Given the description of an element on the screen output the (x, y) to click on. 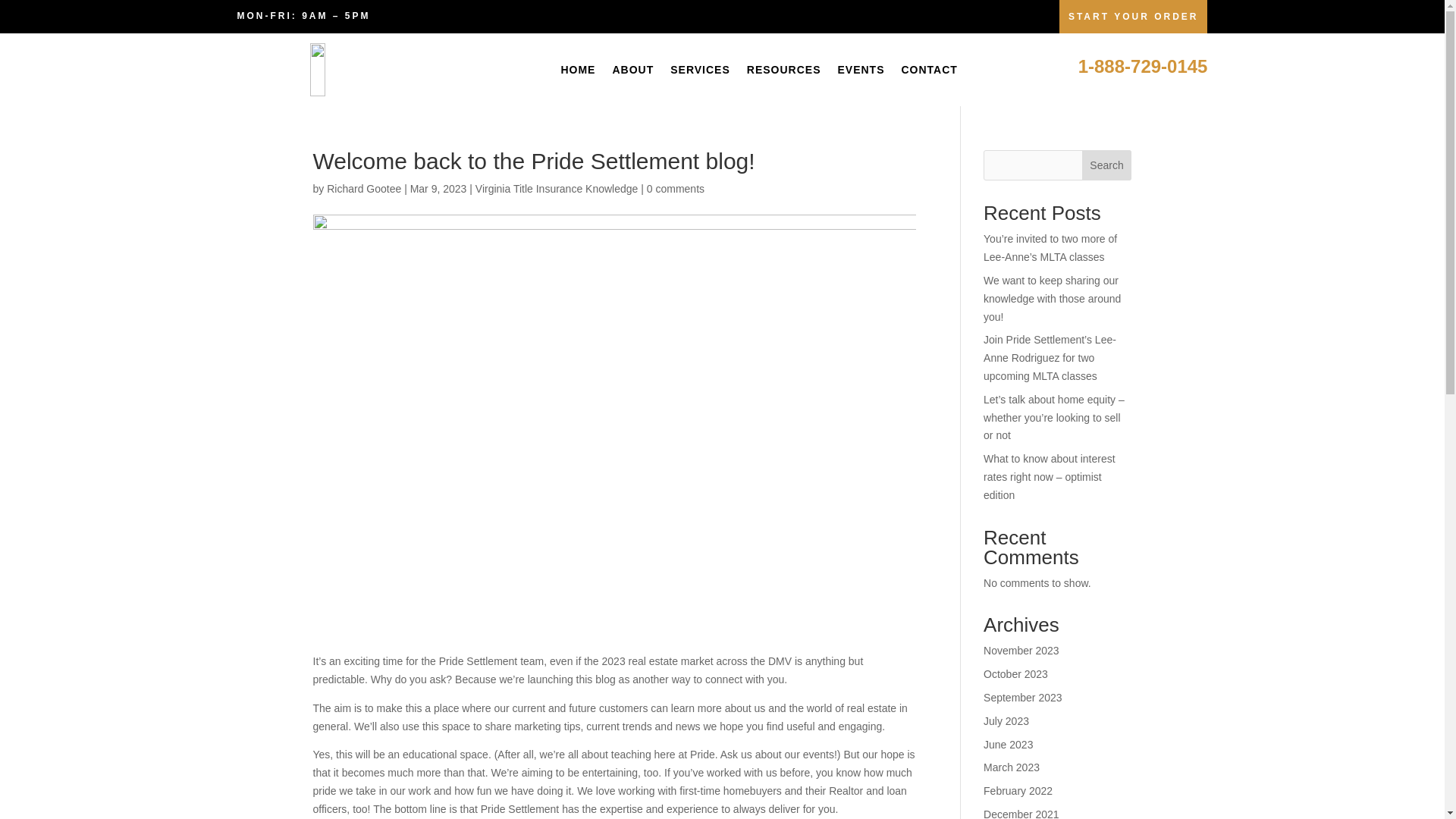
December 2021 (1021, 813)
RESOURCES (783, 69)
November 2023 (1021, 650)
July 2023 (1006, 720)
October 2023 (1016, 674)
March 2023 (1011, 767)
START YOUR ORDER (1133, 16)
Search (1106, 164)
0 comments (675, 188)
SERVICES (699, 69)
Richard Gootee (363, 188)
We want to keep sharing our knowledge with those around you! (1052, 298)
1-888-729-0145 (1143, 66)
February 2022 (1018, 790)
Posts by Richard Gootee (363, 188)
